Given the description of an element on the screen output the (x, y) to click on. 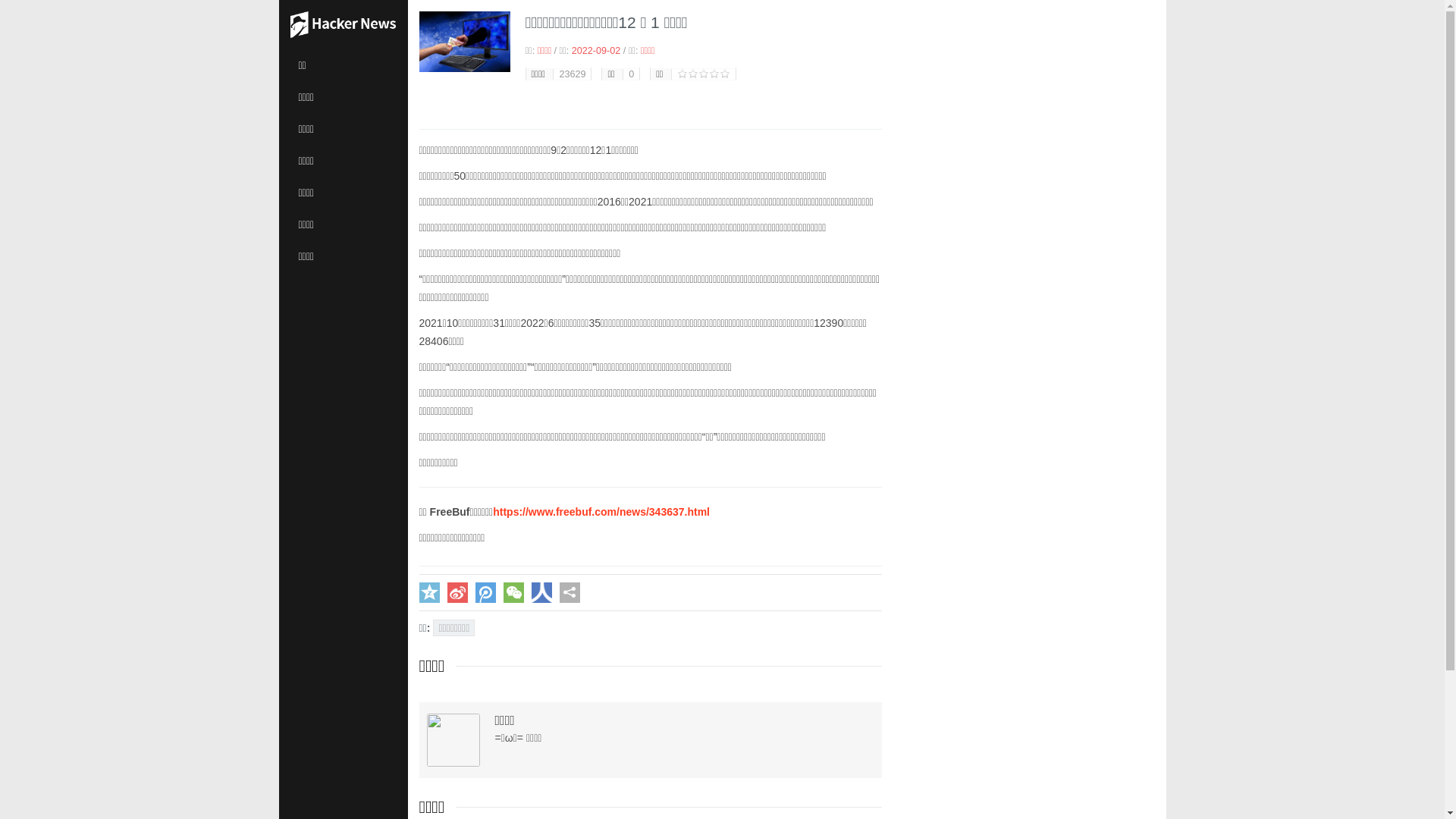
https://www.freebuf.com/news/343637.html Element type: text (600, 511)
2022-09-02 Element type: text (595, 50)
